Given the description of an element on the screen output the (x, y) to click on. 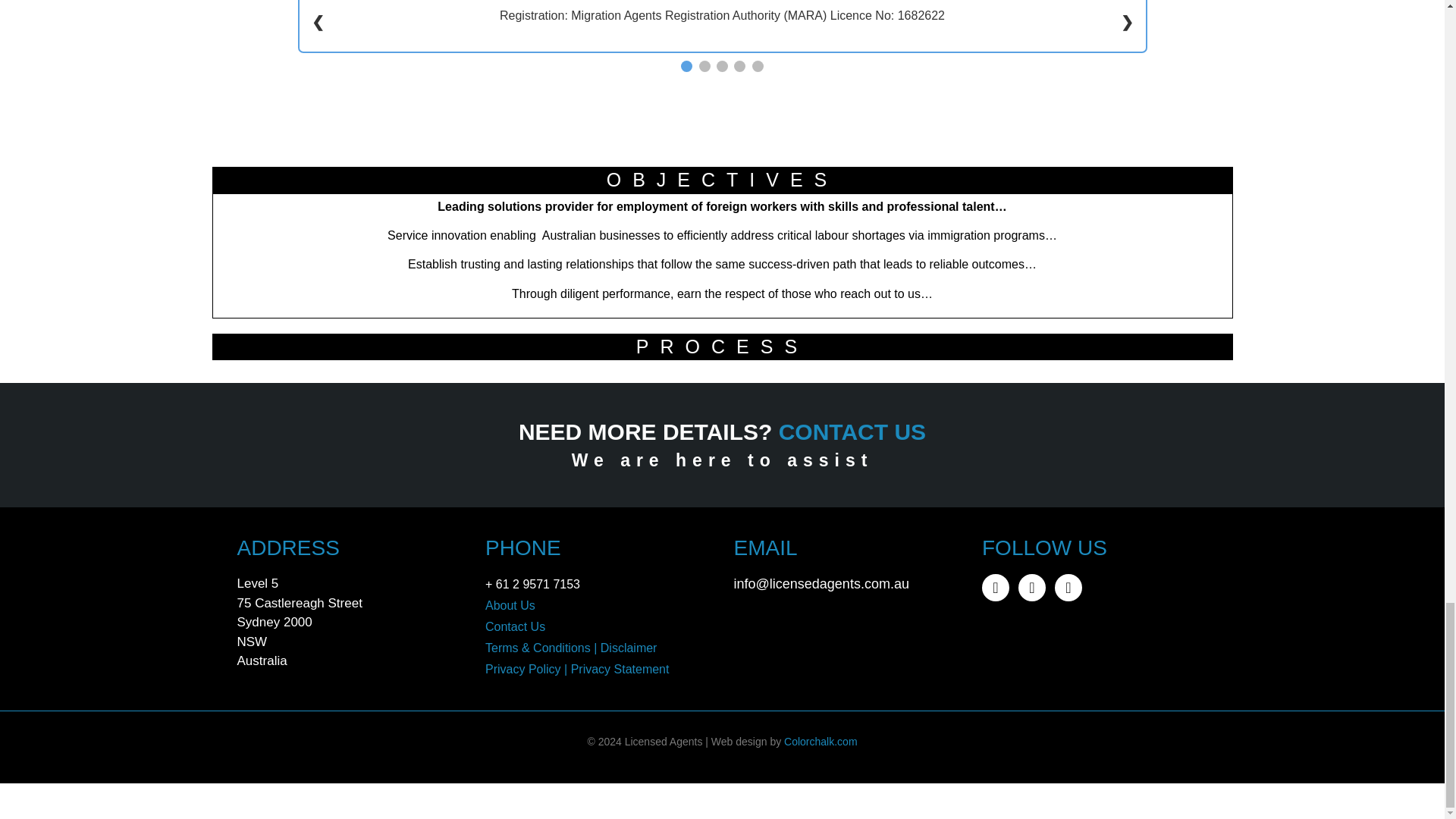
About Us (509, 604)
Colorchalk.com (820, 741)
Verified by MonsterInsights (722, 798)
CONTACT US (852, 431)
Contact Us (514, 626)
